Given the description of an element on the screen output the (x, y) to click on. 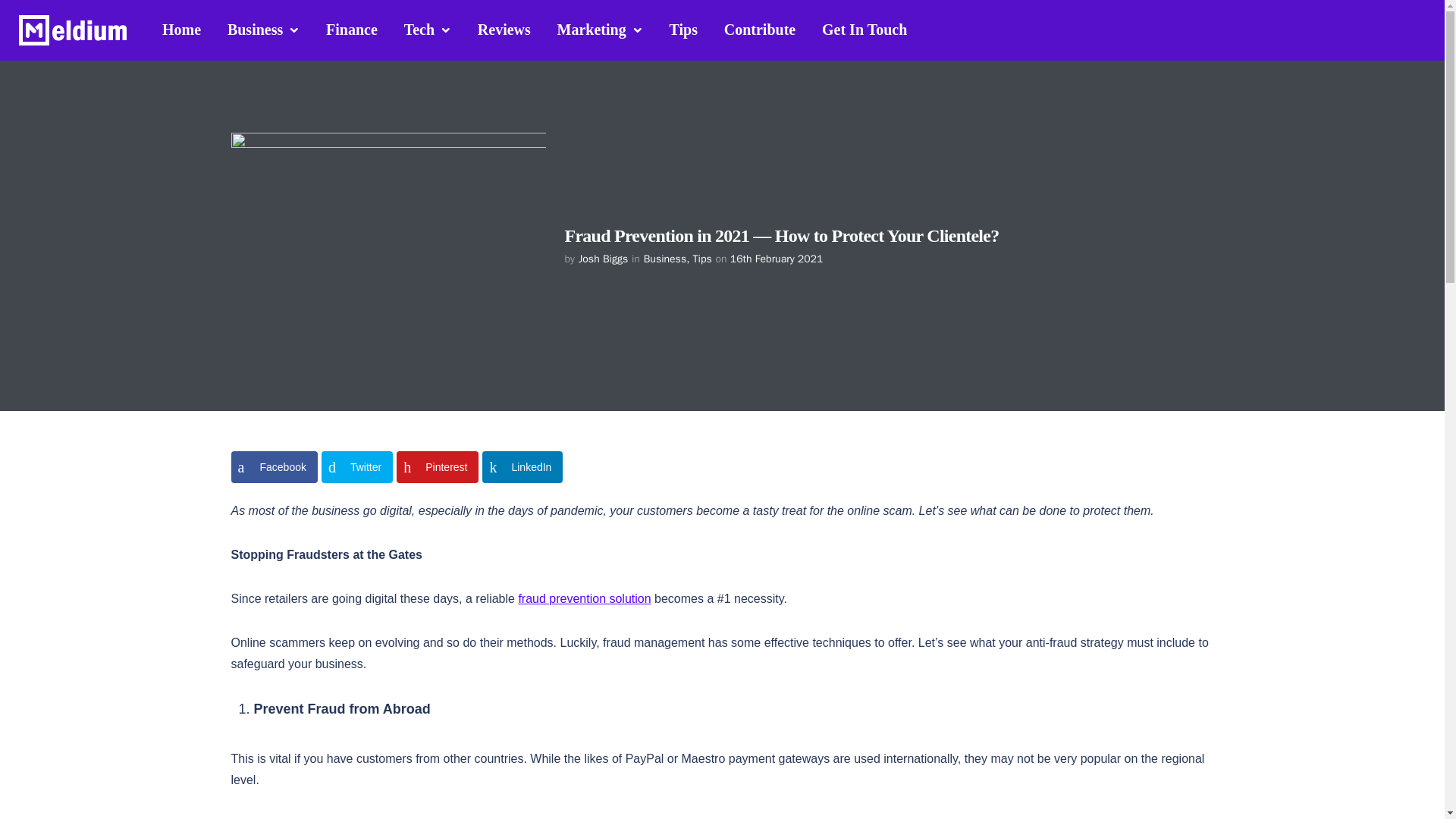
Twitter (357, 467)
Get In Touch (864, 29)
Tech (428, 29)
Finance (351, 29)
Share on Twitter (357, 467)
Business (263, 29)
Pinterest (437, 467)
Facebook (273, 467)
Home (181, 29)
Contribute (759, 29)
